Given the description of an element on the screen output the (x, y) to click on. 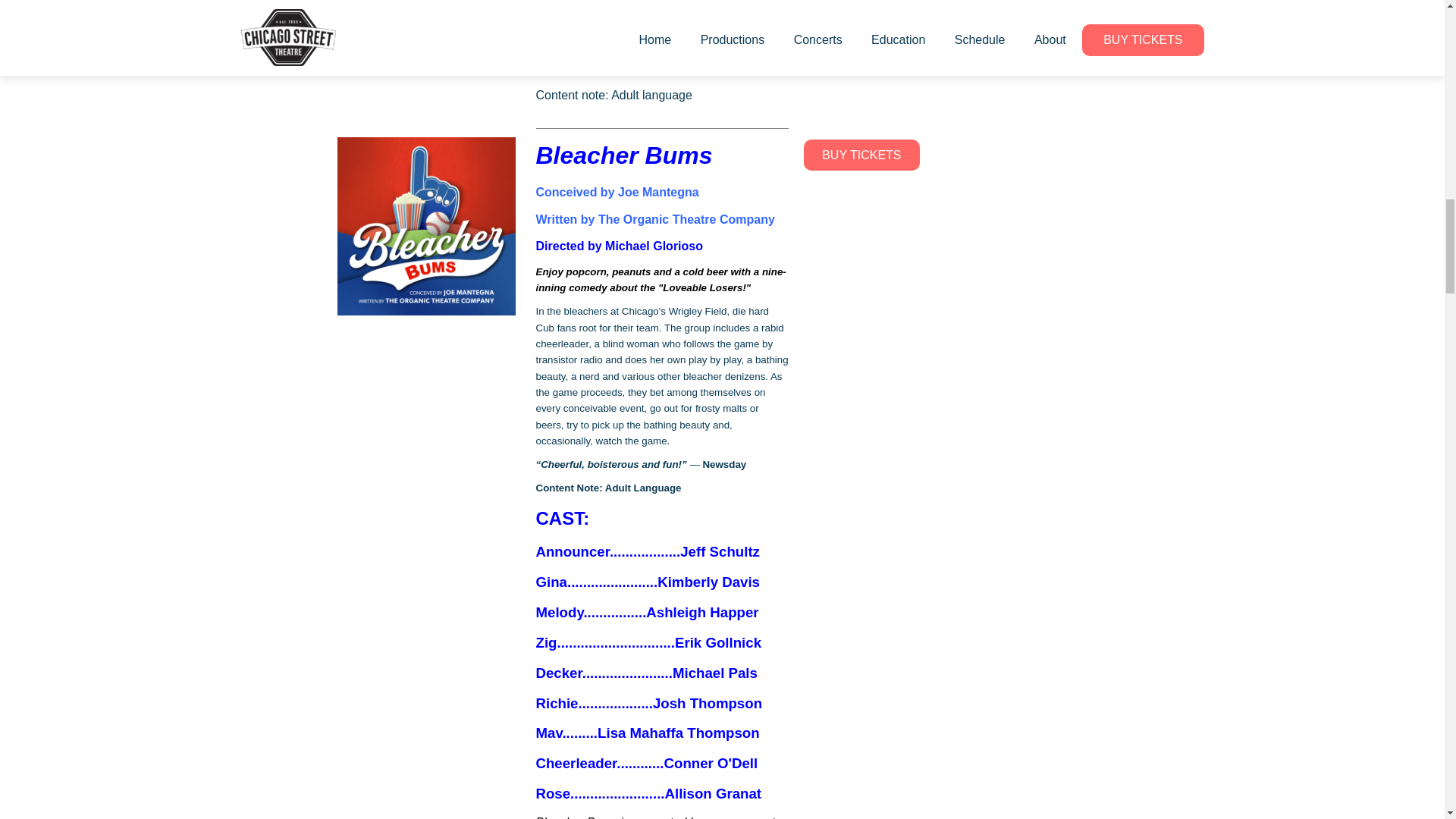
BUY TICKETS (860, 155)
